Given the description of an element on the screen output the (x, y) to click on. 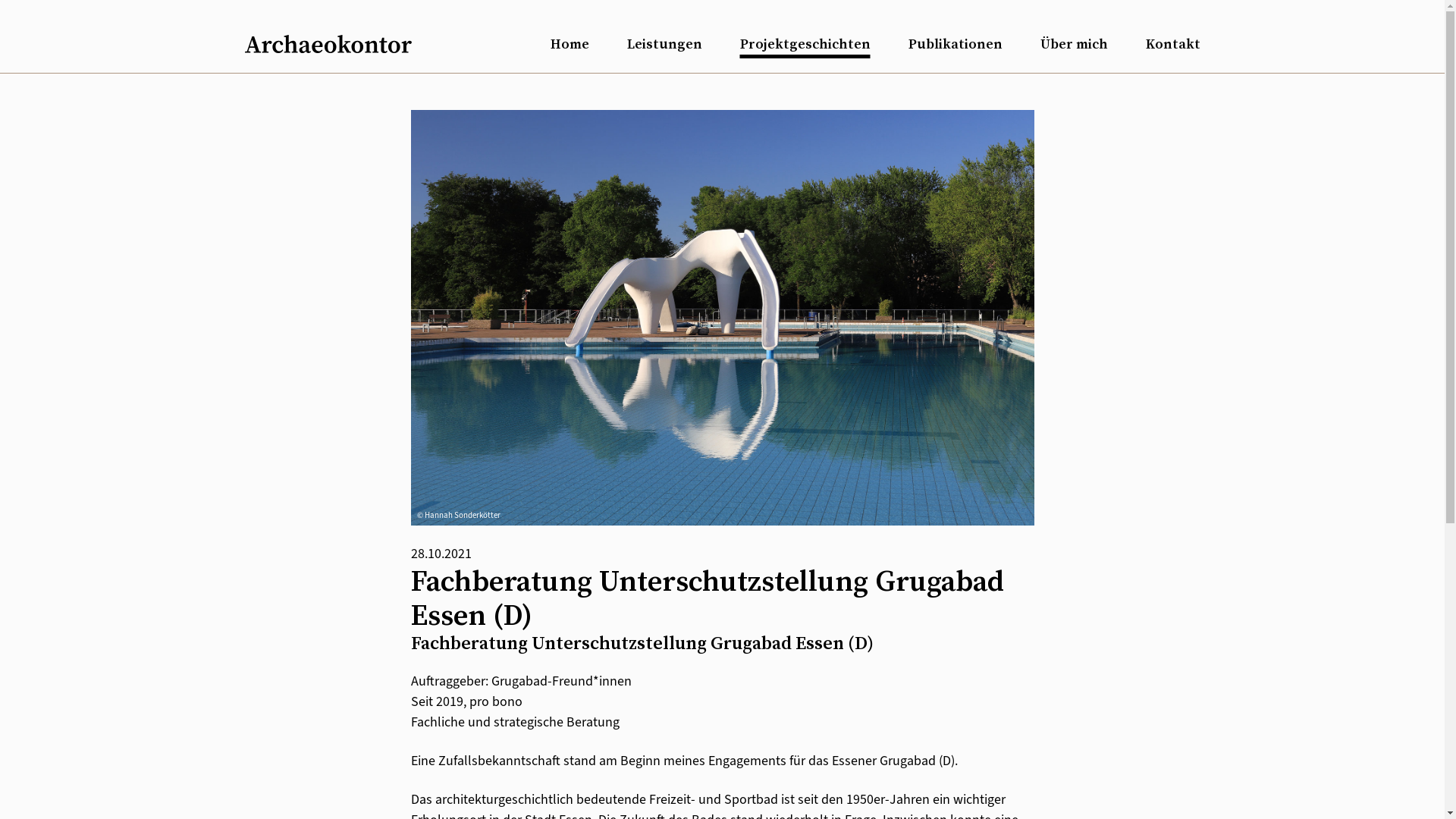
Home Element type: text (569, 43)
Leistungen Element type: text (663, 43)
Publikationen Element type: text (955, 43)
Kontakt Element type: text (1172, 43)
Projektgeschichten Element type: text (805, 43)
